Given the description of an element on the screen output the (x, y) to click on. 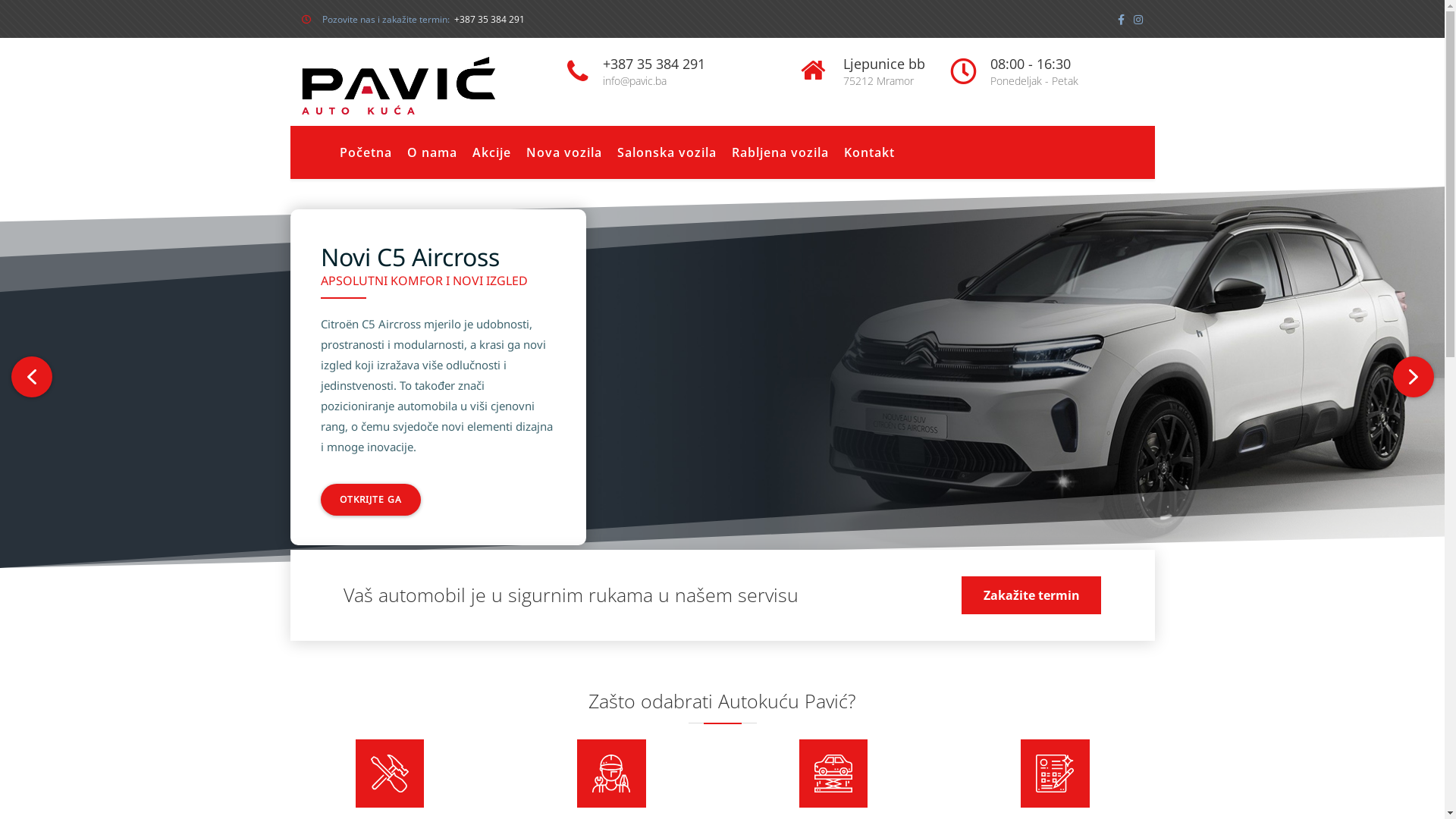
Kontakt Element type: text (868, 151)
Akcije Element type: text (490, 151)
Rabljena vozila Element type: text (779, 151)
Nova vozila Element type: text (563, 151)
+387 35 384 291 Element type: text (487, 18)
O nama Element type: text (431, 151)
instagram Element type: text (1137, 19)
facebook Element type: text (1124, 19)
Salonska vozila Element type: text (666, 151)
OTKRIJTE GA Element type: text (370, 499)
